Given the description of an element on the screen output the (x, y) to click on. 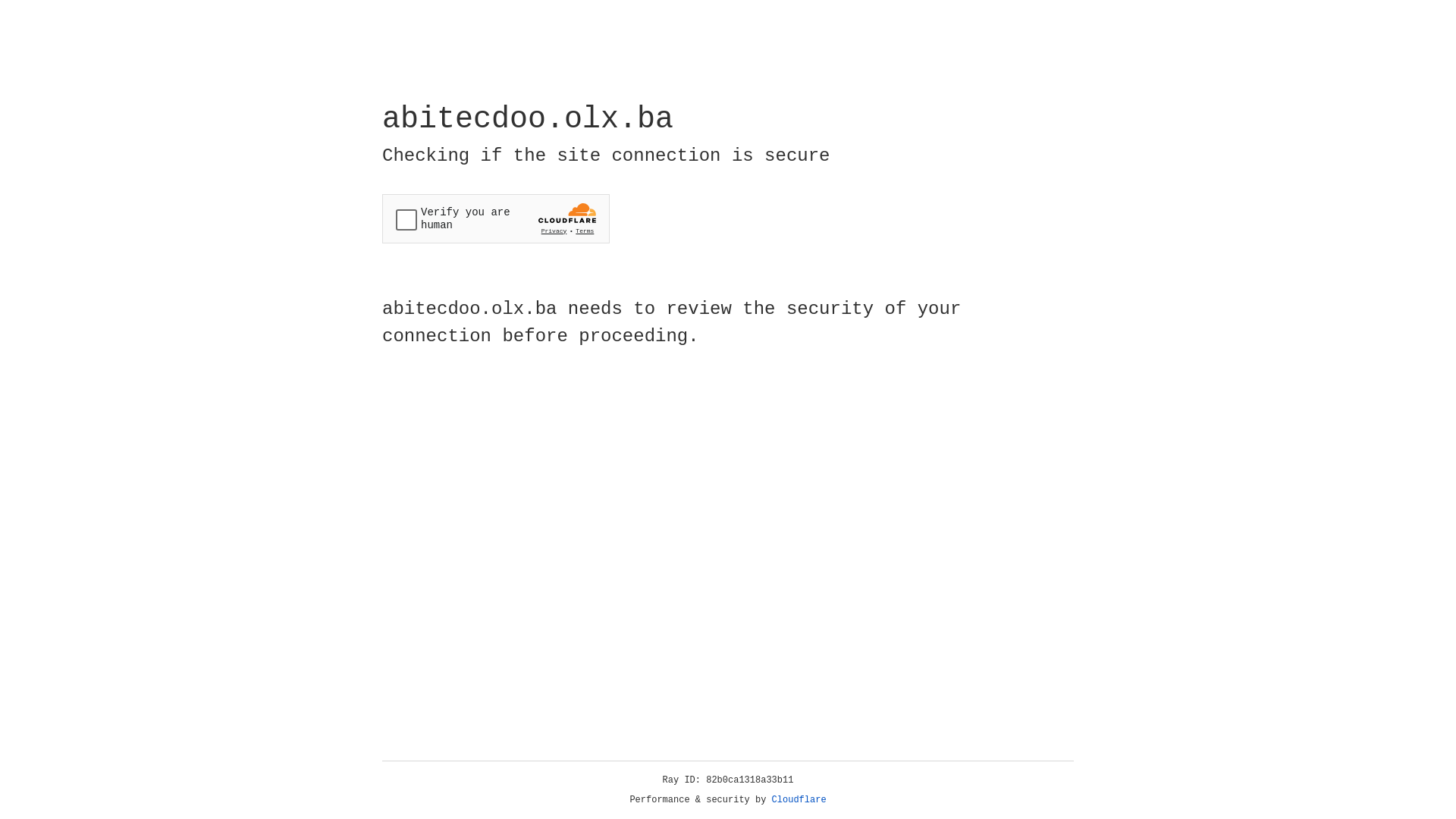
Cloudflare Element type: text (798, 799)
Widget containing a Cloudflare security challenge Element type: hover (495, 218)
